Given the description of an element on the screen output the (x, y) to click on. 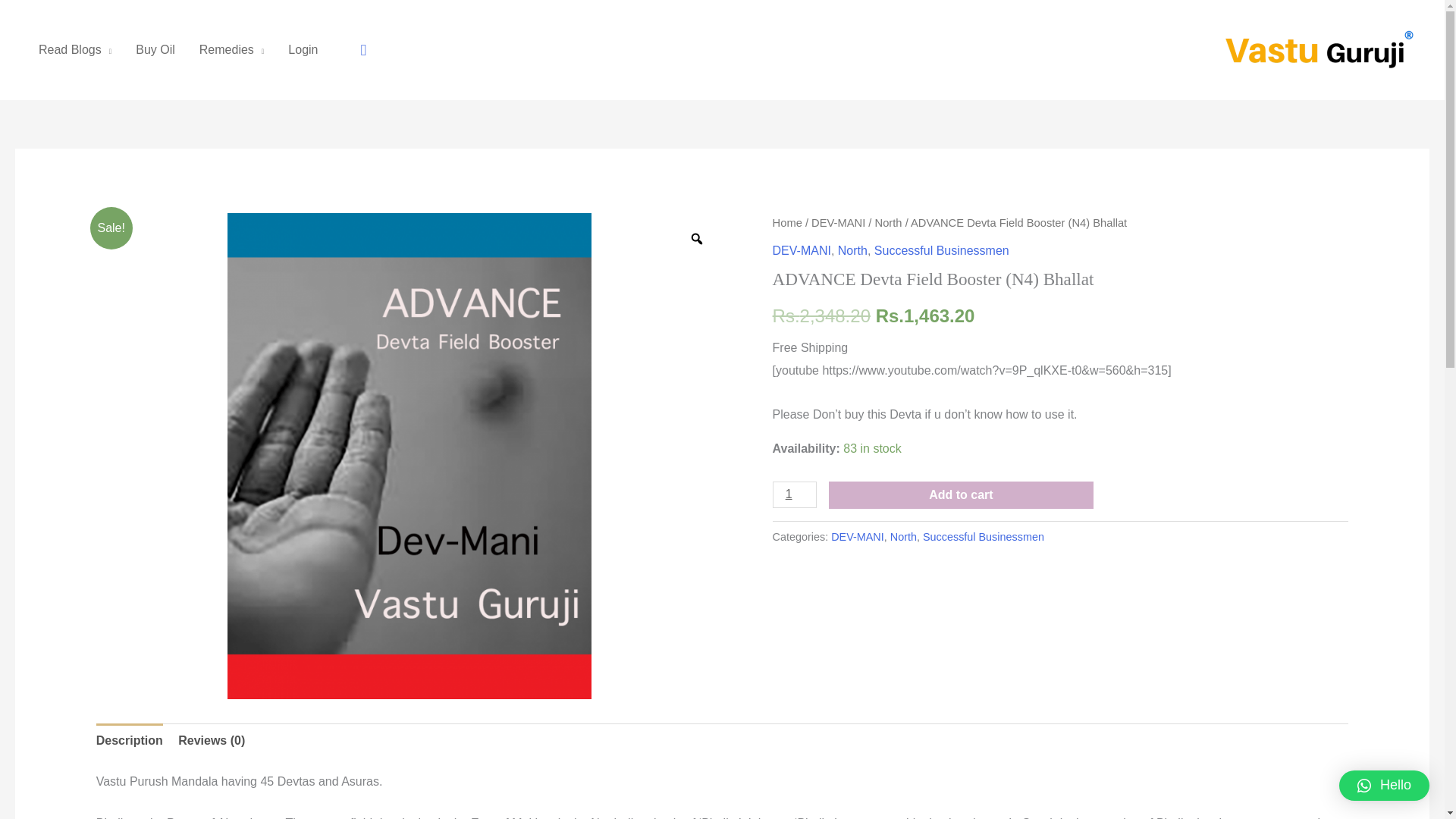
DEV-MANI (802, 250)
Remedies (231, 49)
DEV-MANI (837, 223)
North (903, 536)
Successful Businessmen (942, 250)
Home (787, 223)
Login (303, 49)
North (852, 250)
Buy Oil (155, 49)
North (888, 223)
